Given the description of an element on the screen output the (x, y) to click on. 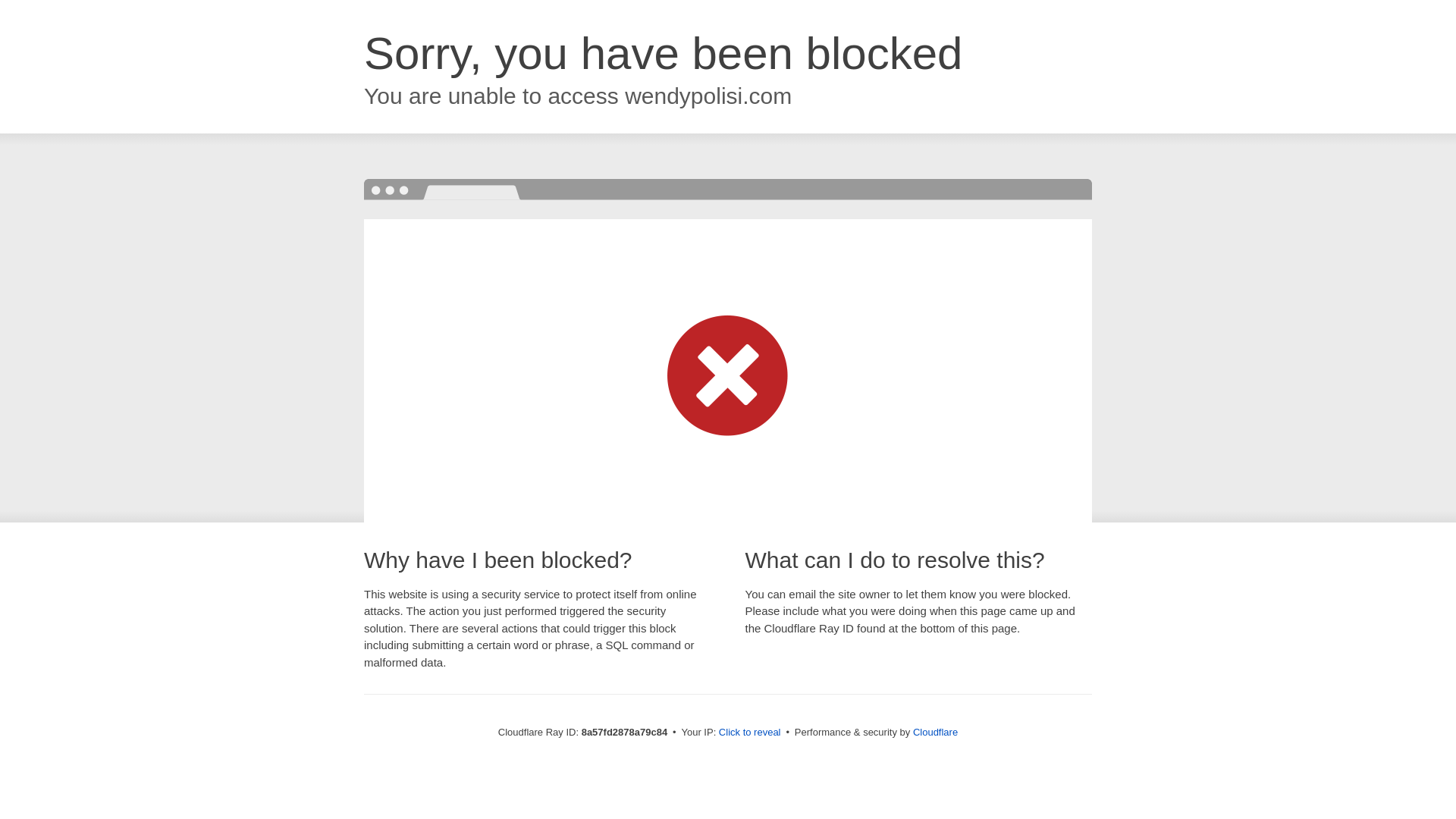
Cloudflare (935, 731)
Click to reveal (749, 732)
